Given the description of an element on the screen output the (x, y) to click on. 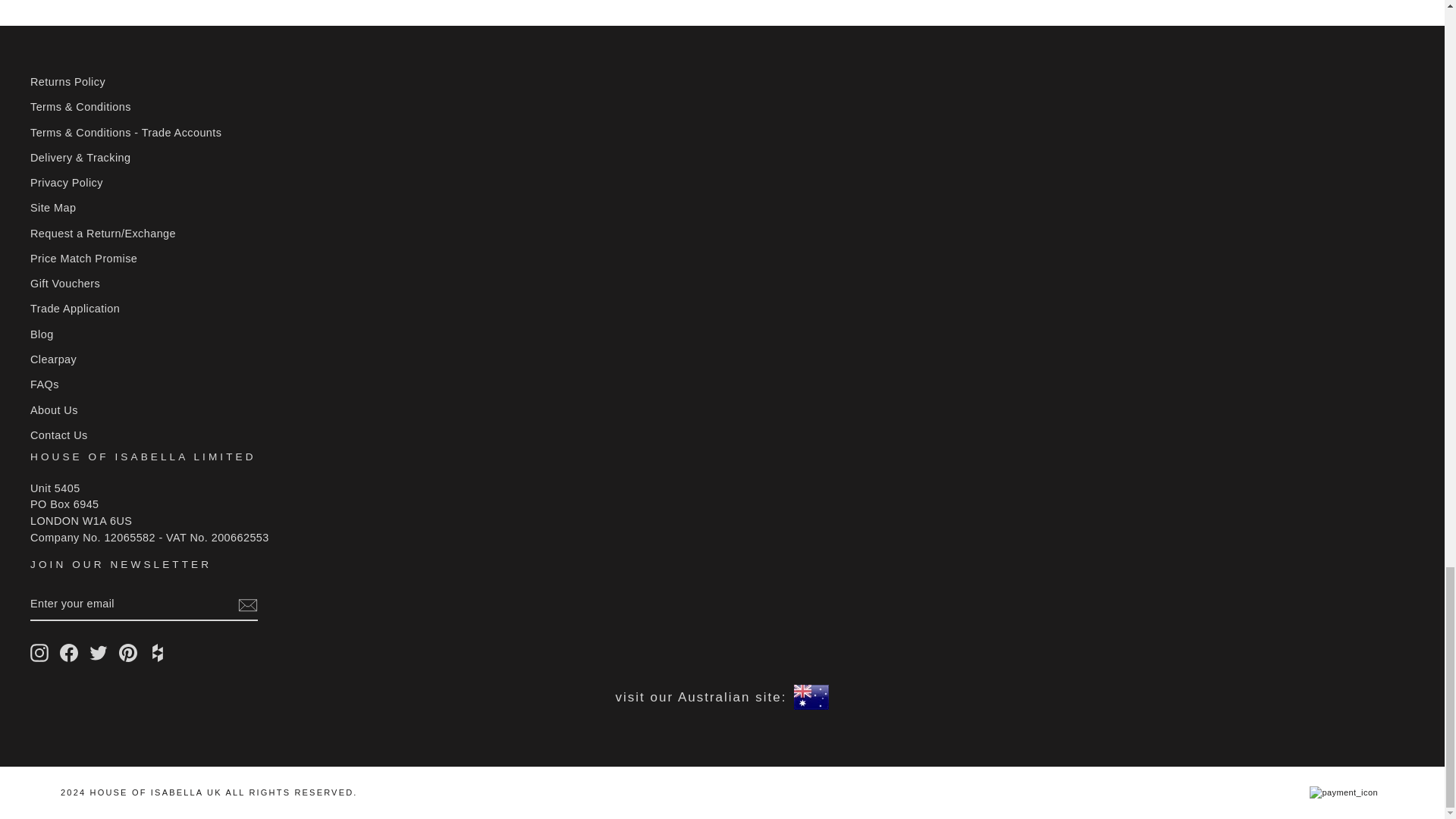
House of Isabella UK on Pinterest (127, 652)
House of Isabella UK on Facebook (68, 652)
House of Isabella UK on Instagram (39, 652)
House of Isabella UK on Twitter (97, 652)
